Given the description of an element on the screen output the (x, y) to click on. 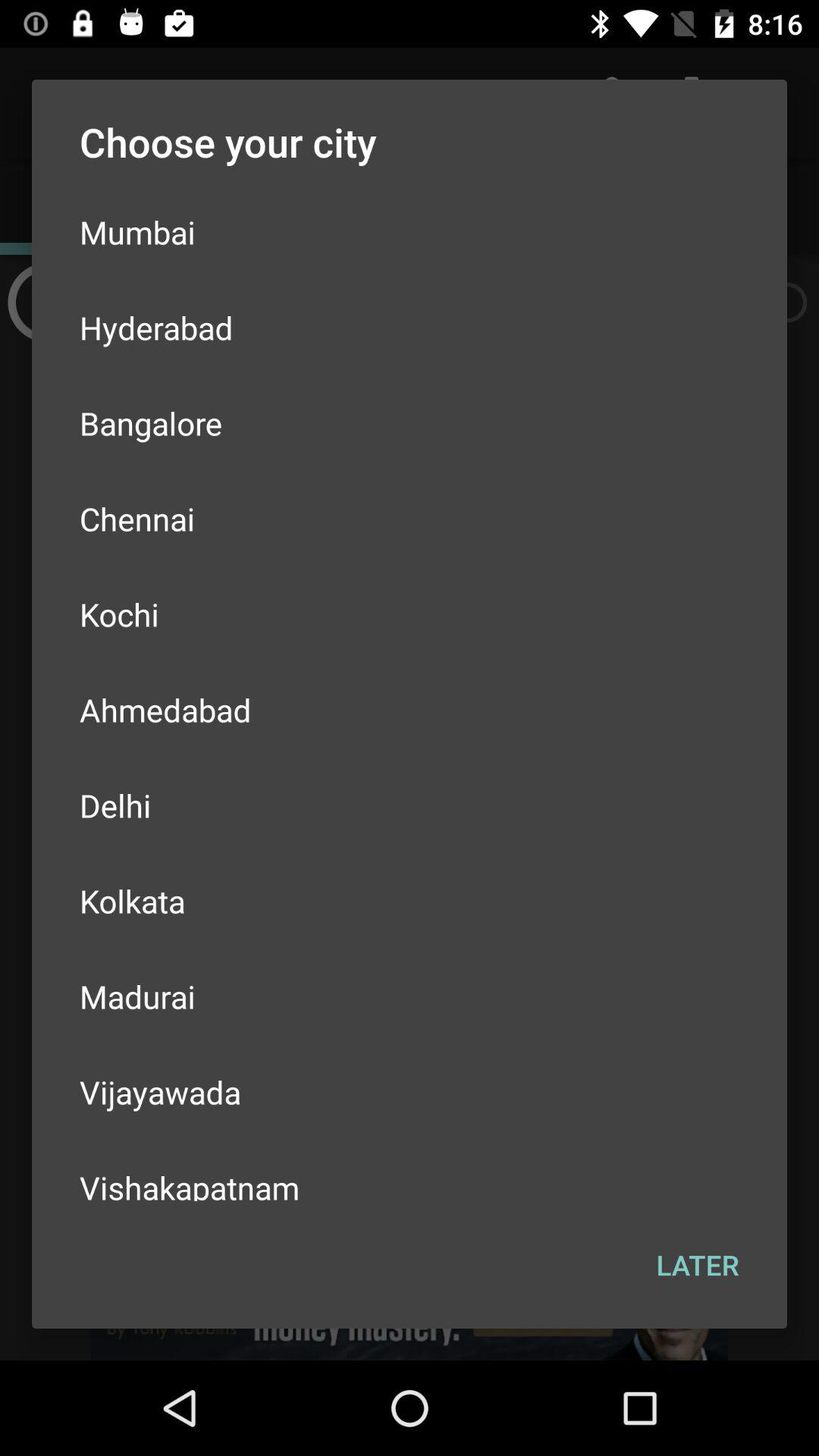
select the item above the madurai (409, 900)
